Given the description of an element on the screen output the (x, y) to click on. 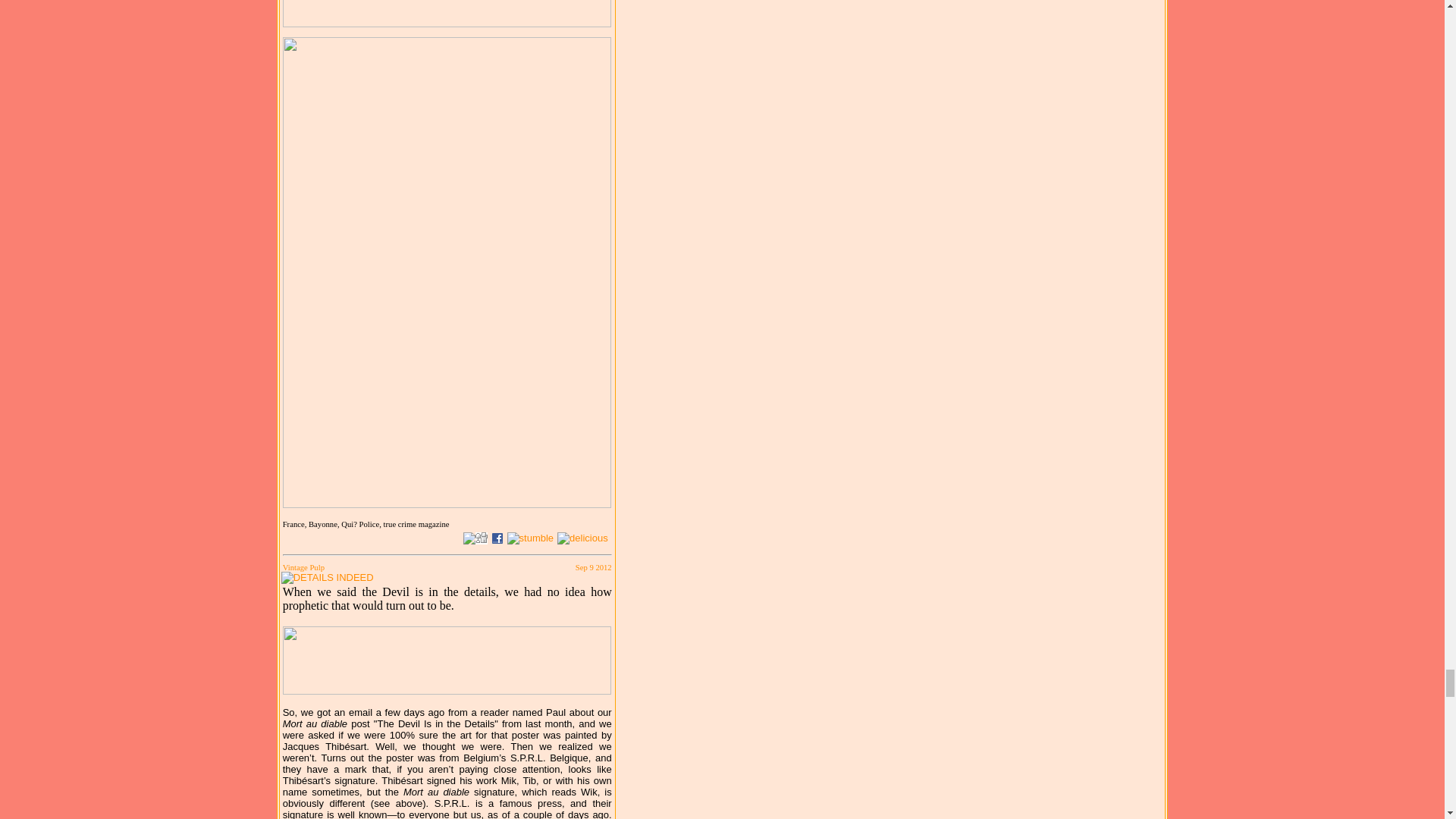
StumbleUpon:Cover and scans from Qui? Police of March 1979 (530, 538)
Bayonne (324, 524)
Share this on Facebook (497, 538)
France (295, 524)
digg:Cover and scans from Qui? Police of March 1979 (481, 538)
Bookmark this on Delicious (582, 538)
